Given the description of an element on the screen output the (x, y) to click on. 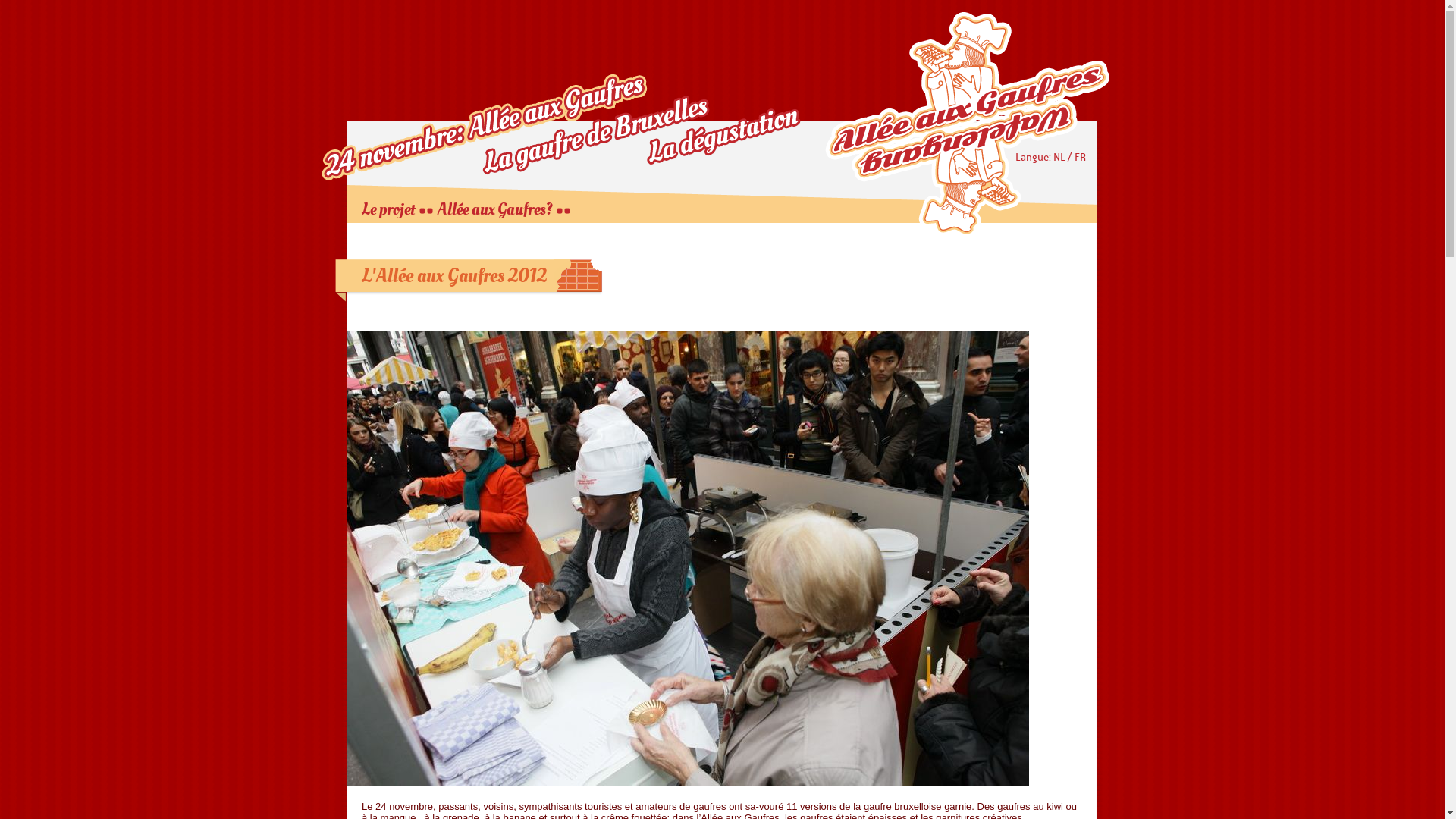
la gaufre de Bruxelles  Element type: hover (590, 127)
Wafelgang Element type: hover (967, 122)
Le projet Element type: text (387, 208)
FR Element type: text (1079, 156)
NL Element type: text (1059, 156)
